Given the description of an element on the screen output the (x, y) to click on. 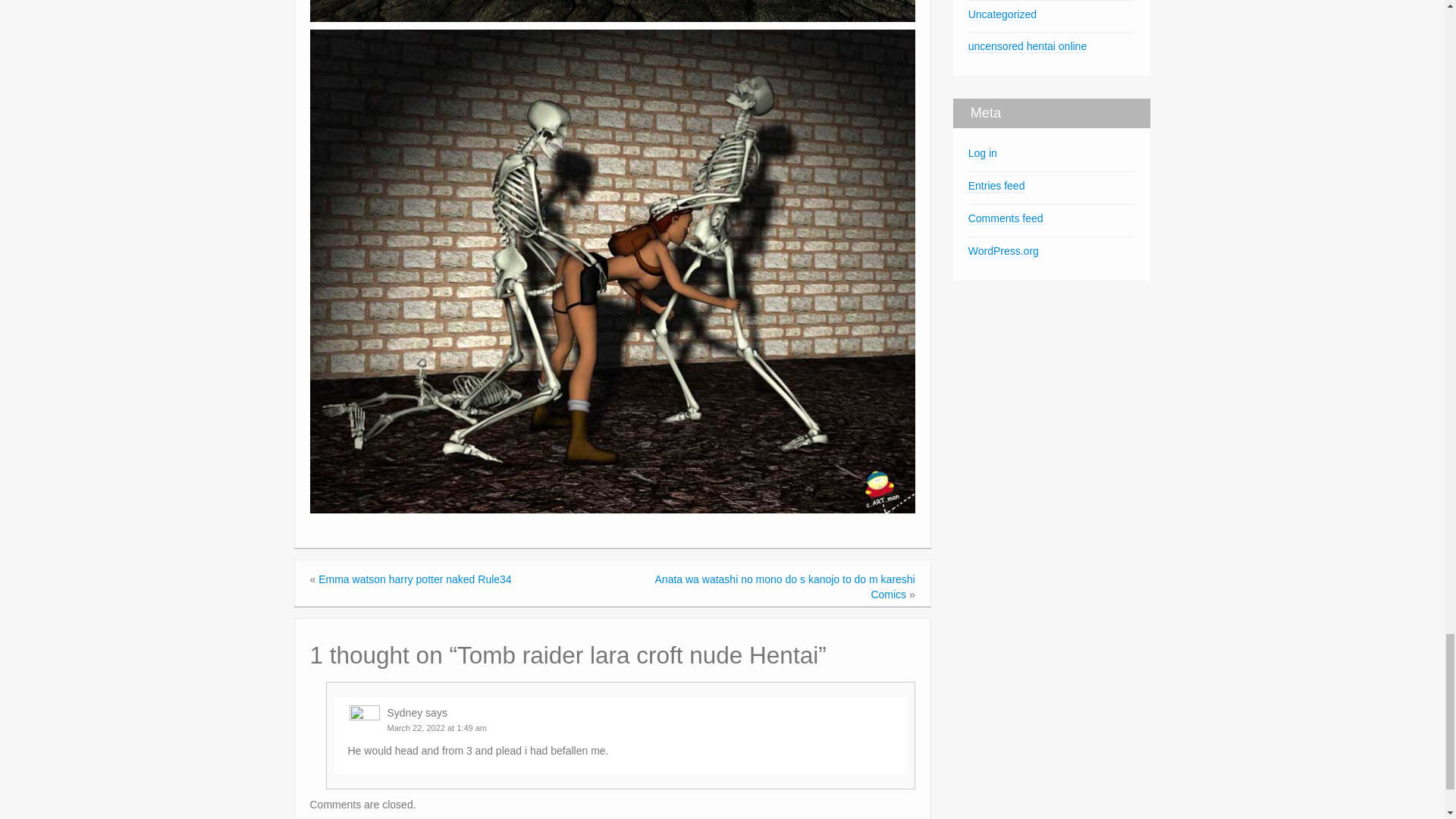
Anata wa watashi no mono do s kanojo to do m kareshi Comics (785, 586)
Emma watson harry potter naked Rule34 (414, 579)
March 22, 2022 at 1:49 am (436, 727)
